Given the description of an element on the screen output the (x, y) to click on. 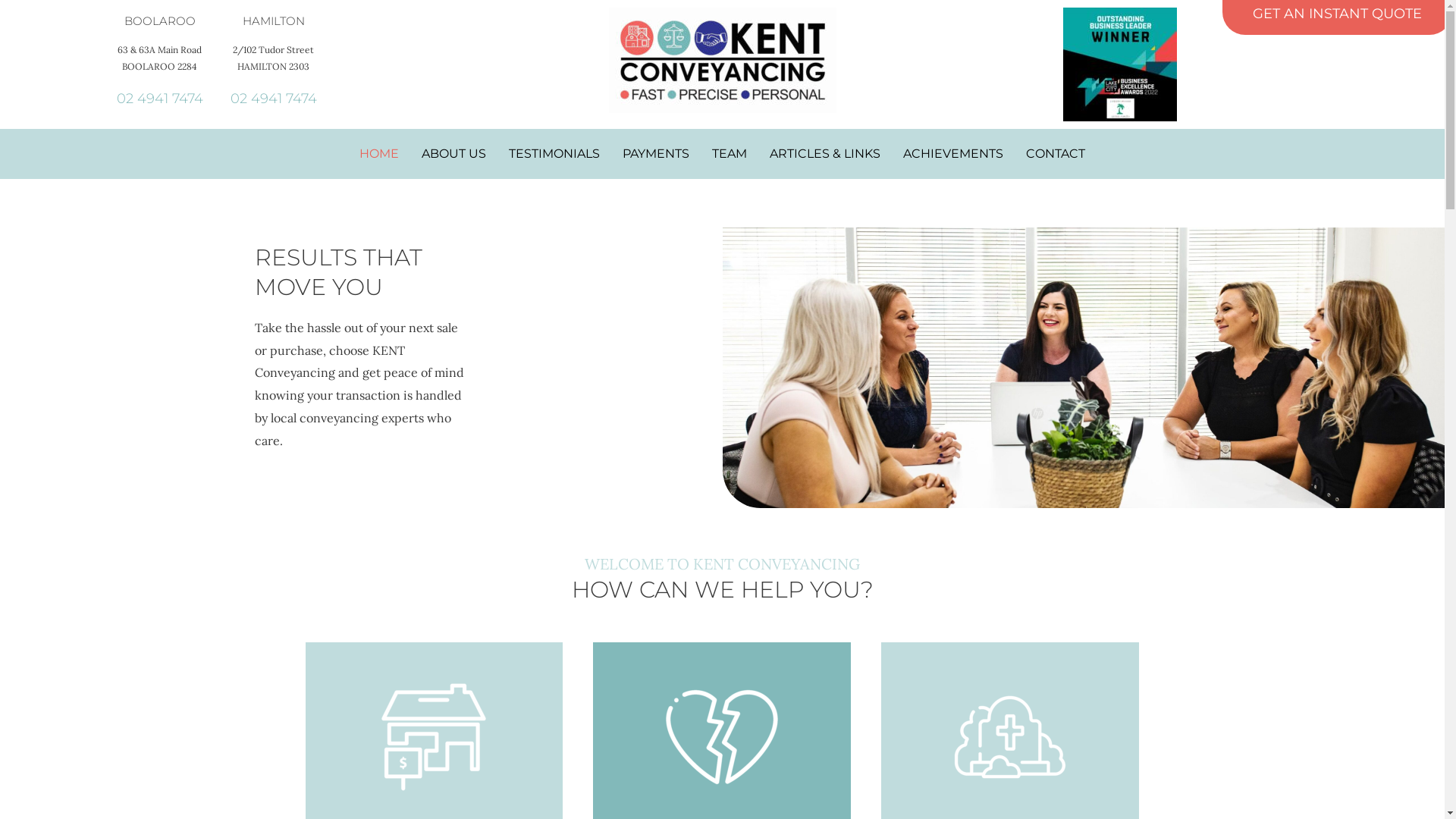
TEAM Element type: text (729, 153)
CONTACT Element type: text (1055, 153)
TESTIMONIALS Element type: text (554, 153)
HOME Element type: text (379, 153)
ACHIEVEMENTS Element type: text (952, 153)
ABOUT US Element type: text (453, 153)
ARTICLES & LINKS Element type: text (824, 153)
PAYMENTS Element type: text (655, 153)
